Given the description of an element on the screen output the (x, y) to click on. 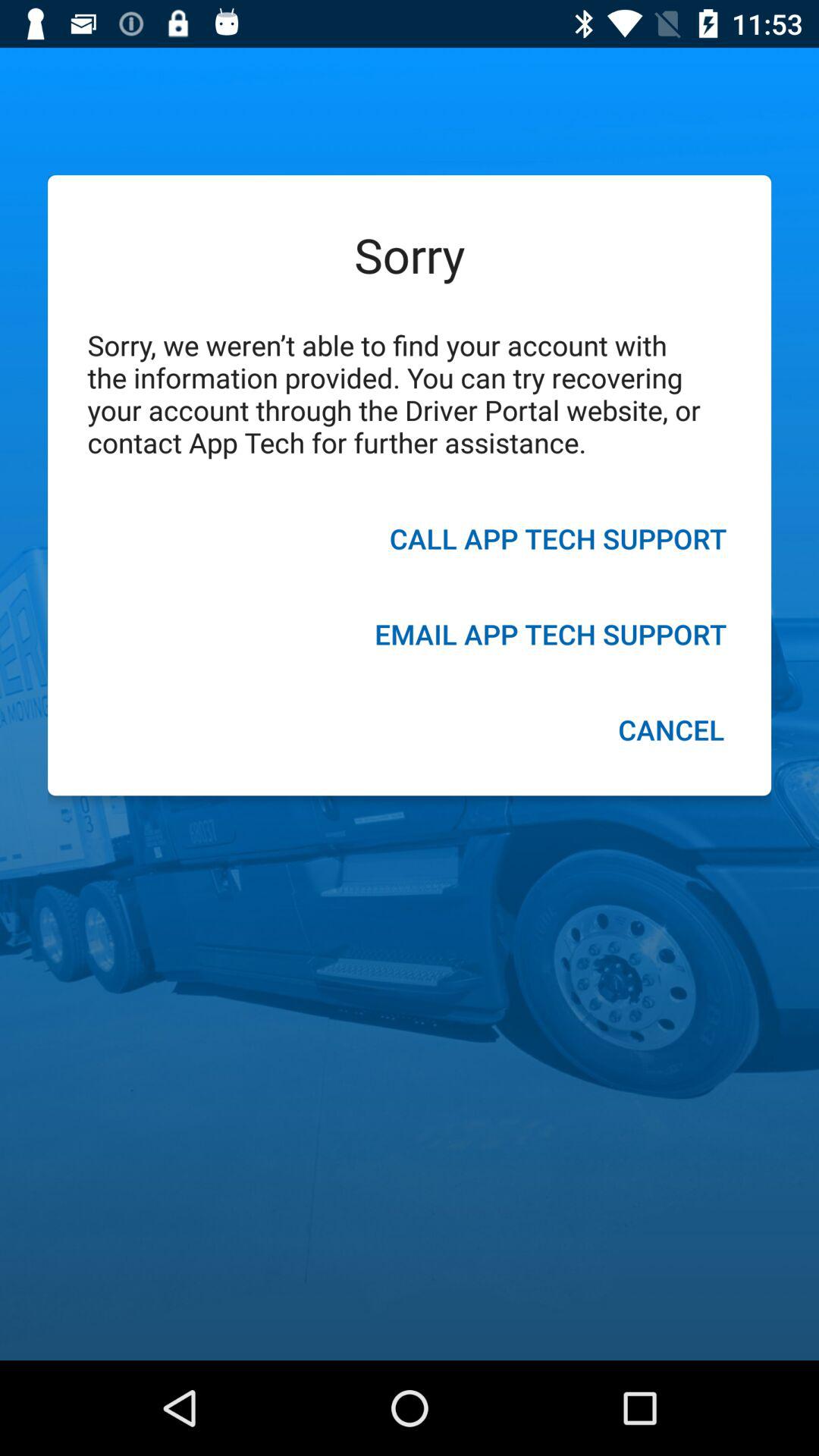
scroll until cancel item (670, 731)
